Given the description of an element on the screen output the (x, y) to click on. 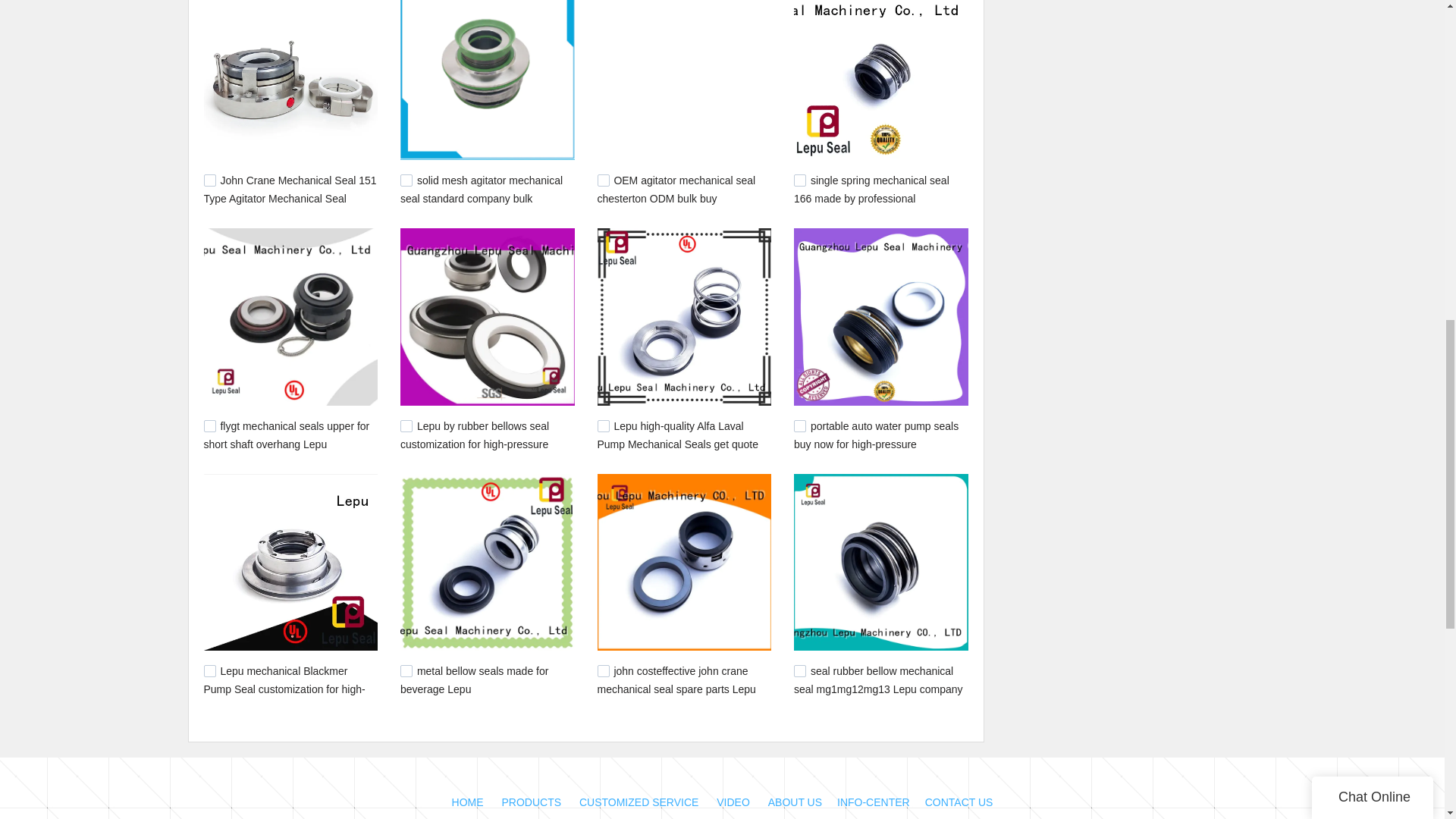
OEM agitator mechanical seal chesterton ODM bulk buy (675, 189)
metal bellow seals made for beverage Lepu (474, 680)
9052 (406, 180)
955 (603, 426)
8947 (603, 180)
flygt mechanical seals upper for short shaft overhang Lepu (286, 435)
881 (406, 671)
941 (799, 426)
